Given the description of an element on the screen output the (x, y) to click on. 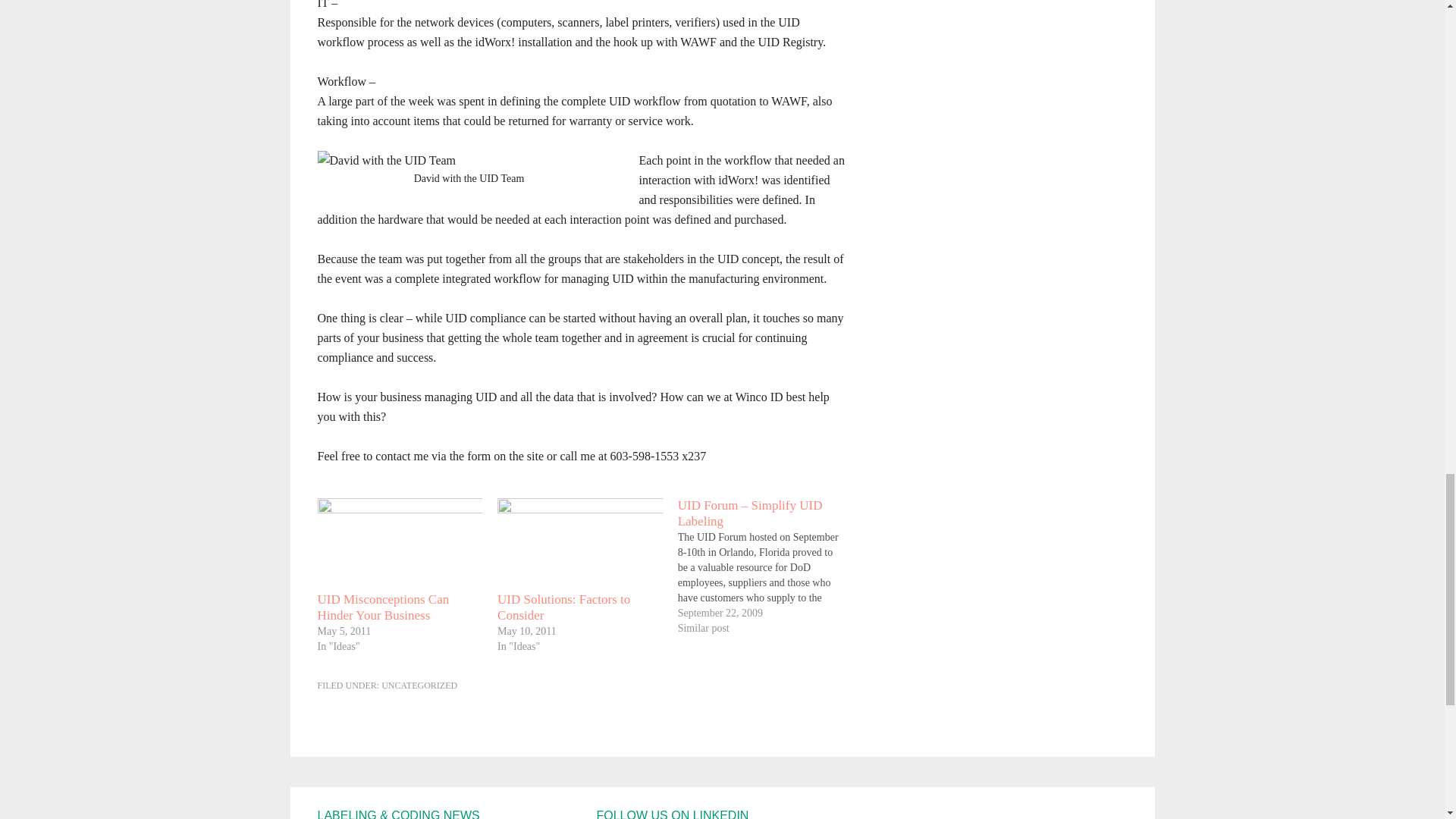
UID Misconceptions Can Hinder Your Business (399, 544)
UID Misconceptions Can Hinder Your Business (382, 607)
UID Solutions: Factors to Consider (563, 607)
UID Misconceptions Can Hinder Your Business (382, 607)
Kaizen Team (386, 159)
UID Solutions: Factors to Consider (579, 544)
